Given the description of an element on the screen output the (x, y) to click on. 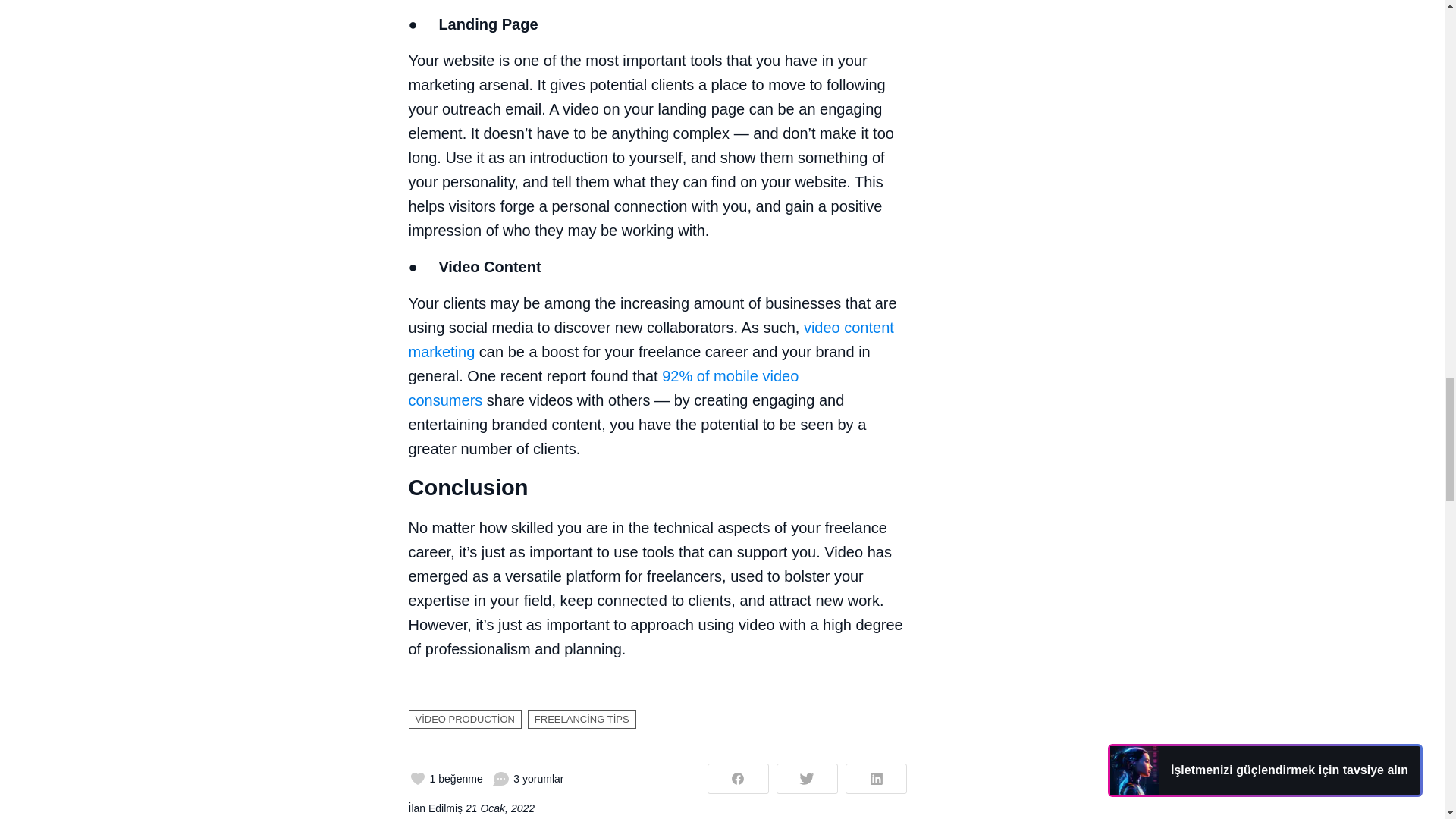
video content marketing (650, 339)
FREELANCING TIPS (581, 719)
VIDEO PRODUCTION (464, 719)
3 yorumlar (527, 778)
